Given the description of an element on the screen output the (x, y) to click on. 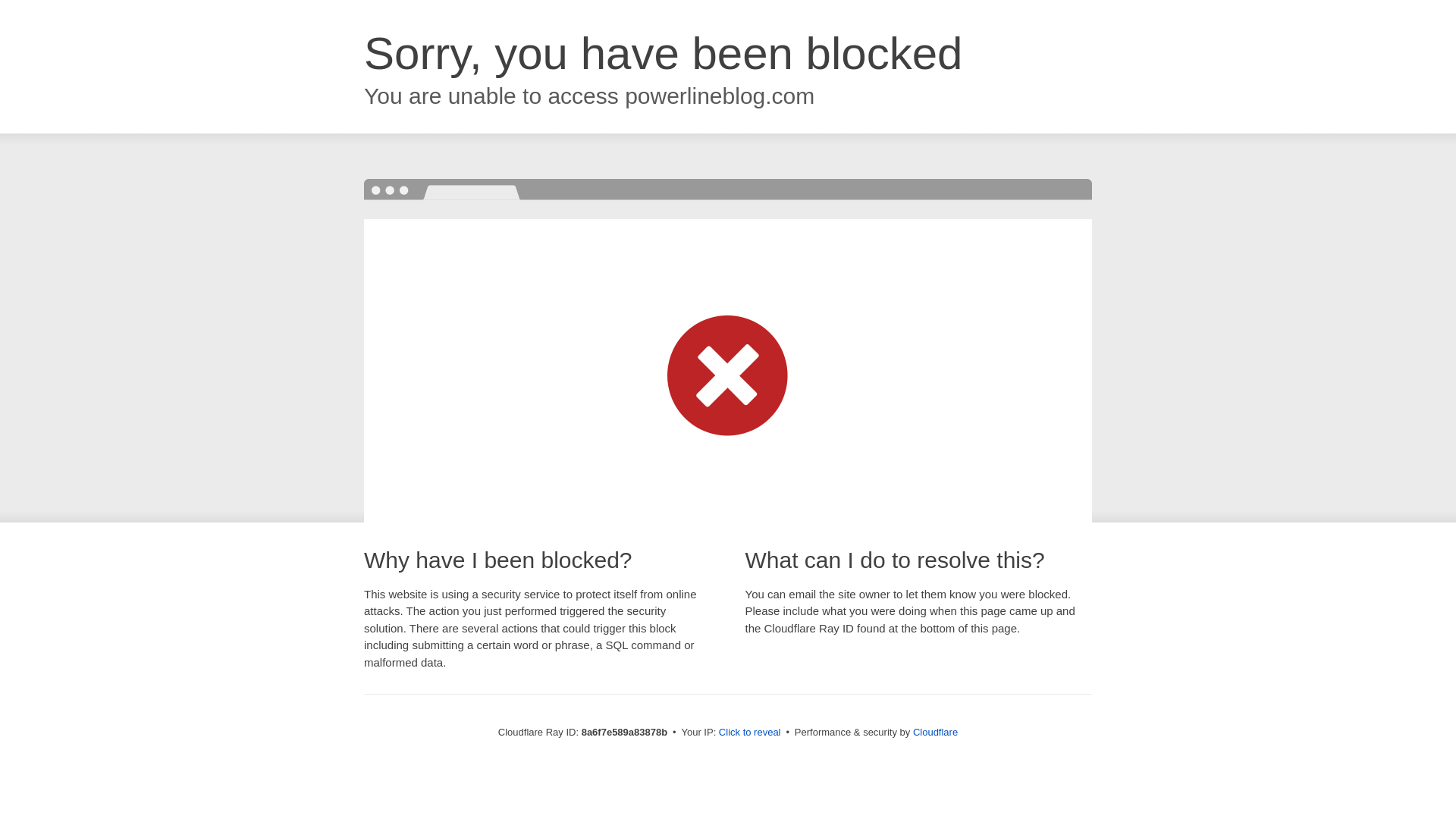
Click to reveal (749, 732)
Cloudflare (935, 731)
